Given the description of an element on the screen output the (x, y) to click on. 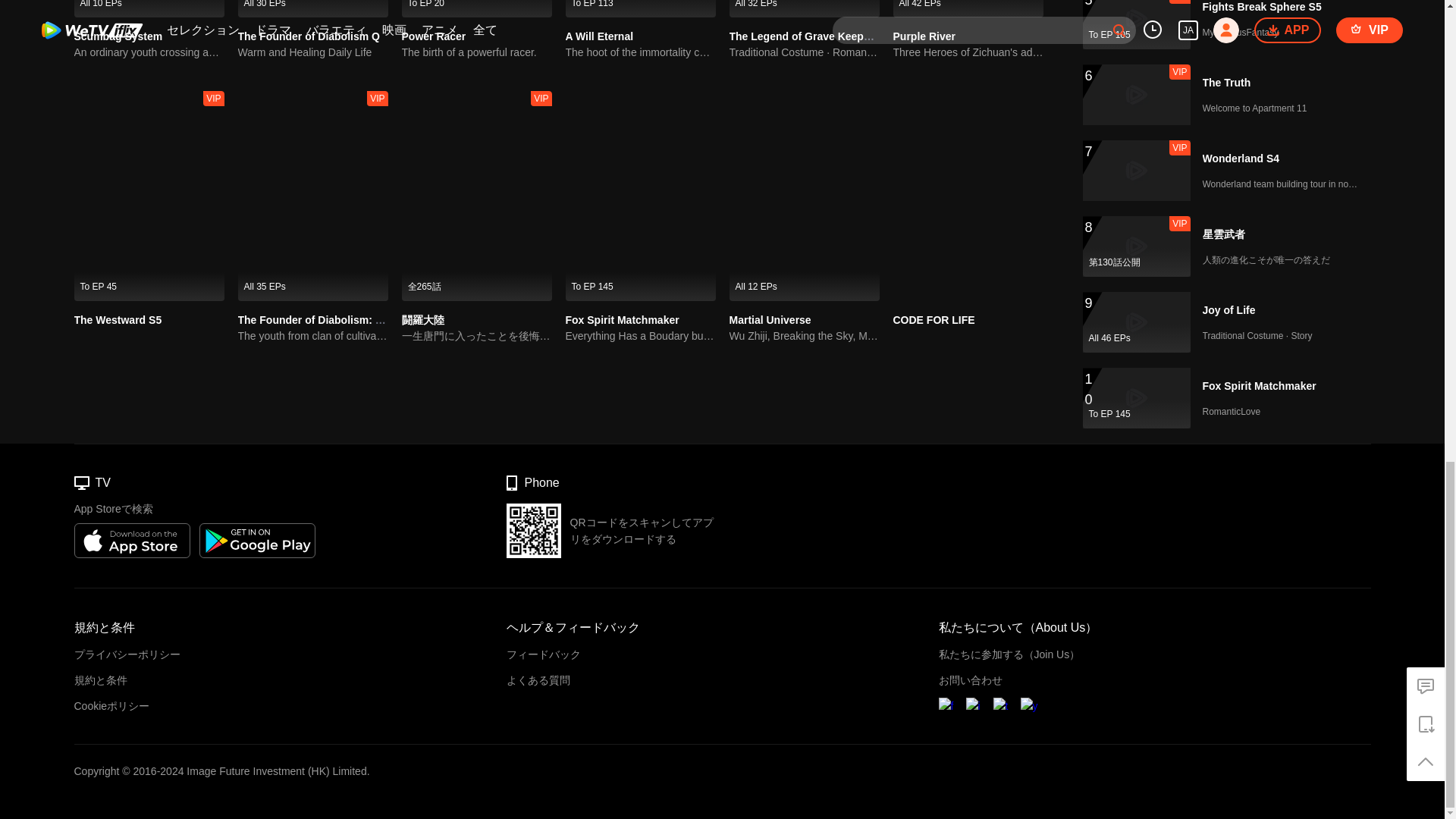
The Legend of Grave Keepers (804, 8)
The Founder of Diabolism Q (309, 36)
The Westward S5 (117, 319)
The hoot of the immortality cultivation world is back! (641, 52)
Scumbag System (149, 8)
A Will Eternal (599, 36)
The birth of a powerful racer. (476, 52)
Power Racer (476, 8)
Purple River (924, 36)
The Legend of Grave Keepers (804, 36)
Power Racer (433, 36)
Scumbag System (118, 36)
Purple River (968, 8)
The Founder of Diabolism Q (313, 8)
